Given the description of an element on the screen output the (x, y) to click on. 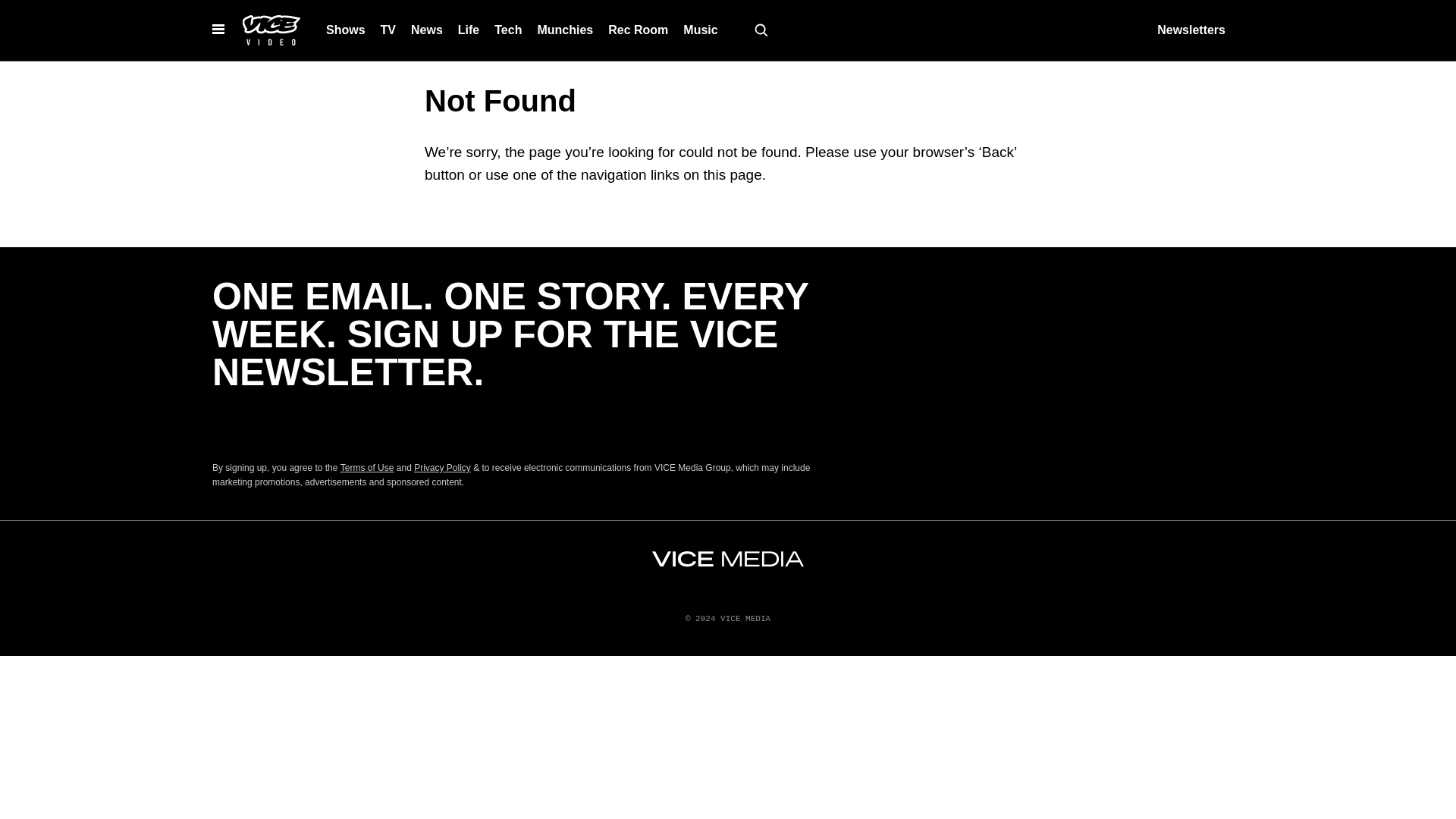
Rec Room (637, 29)
Shows (345, 29)
Munchies (564, 29)
Life (467, 29)
News (426, 29)
Open Menu (217, 30)
Music (700, 29)
Newsletters (1191, 29)
VICE MEDIA (727, 559)
Tech (507, 29)
